Given the description of an element on the screen output the (x, y) to click on. 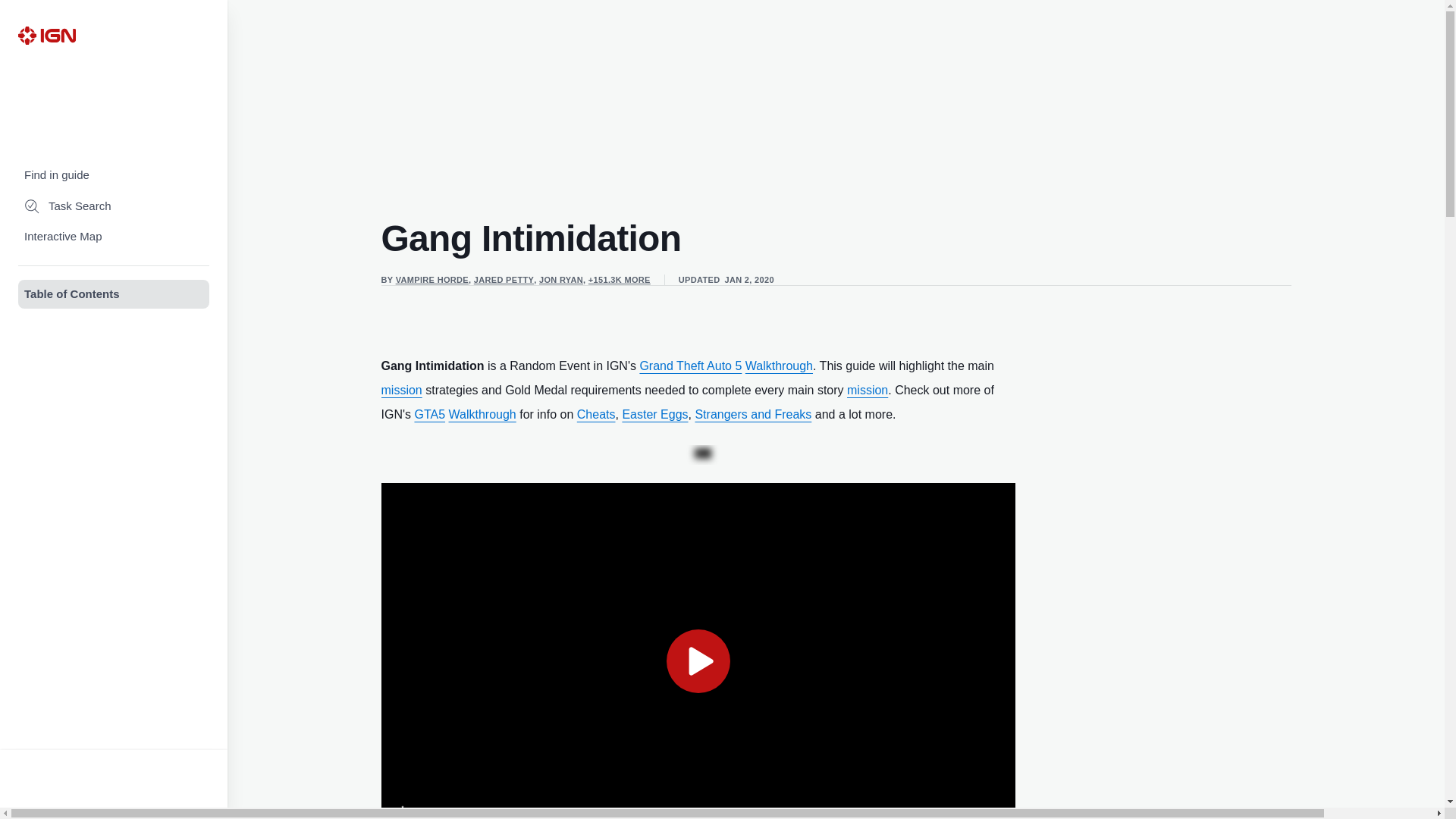
IGN Logo (46, 34)
Interactive Map (113, 236)
Task Search (113, 206)
Find in guide (113, 175)
Table of Contents (113, 294)
Table of Contents (113, 294)
IGN (46, 35)
Find in guide (113, 175)
IGN Logo (46, 35)
Task Search (113, 206)
